Given the description of an element on the screen output the (x, y) to click on. 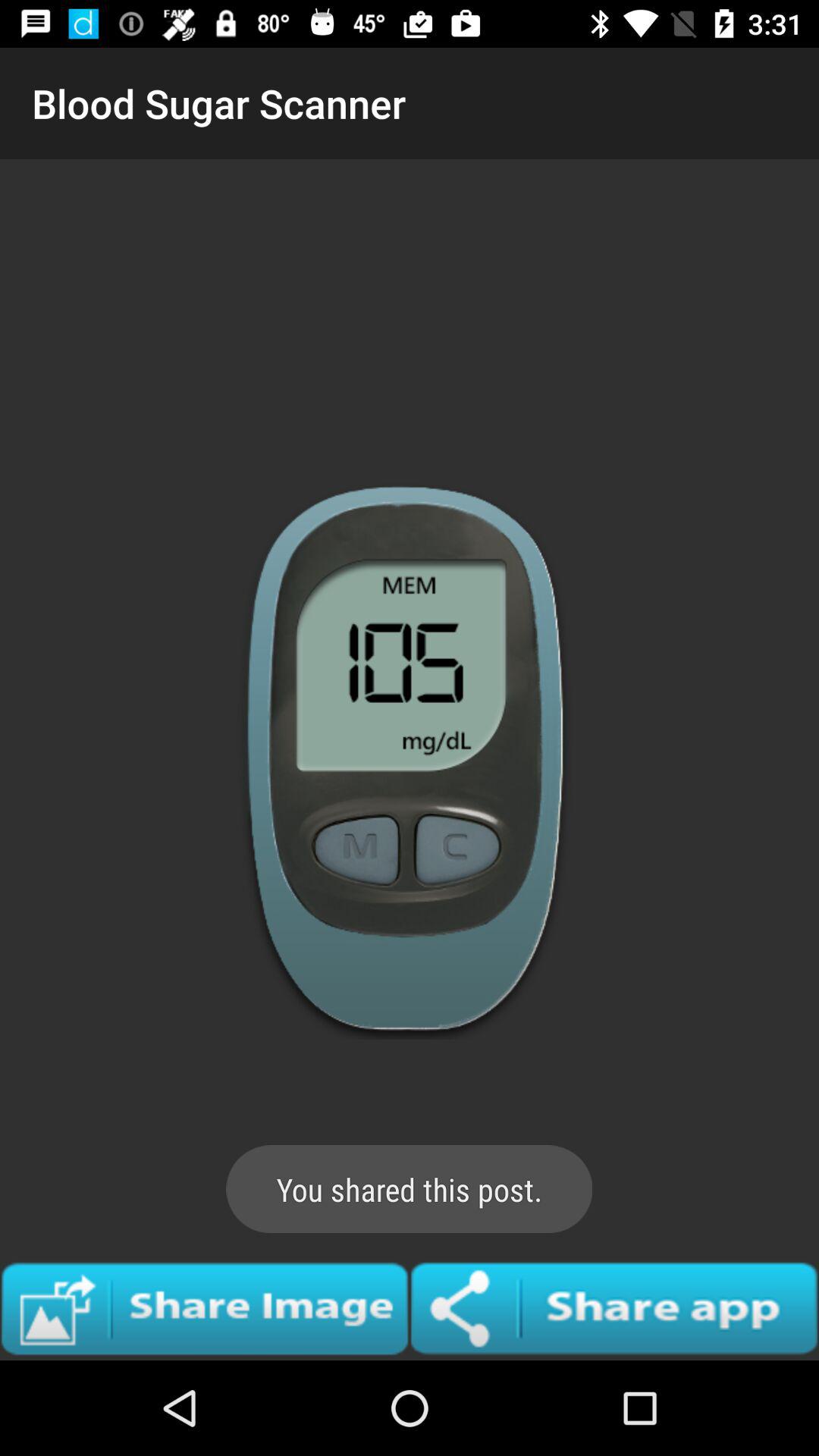
click to share image (204, 1308)
